Given the description of an element on the screen output the (x, y) to click on. 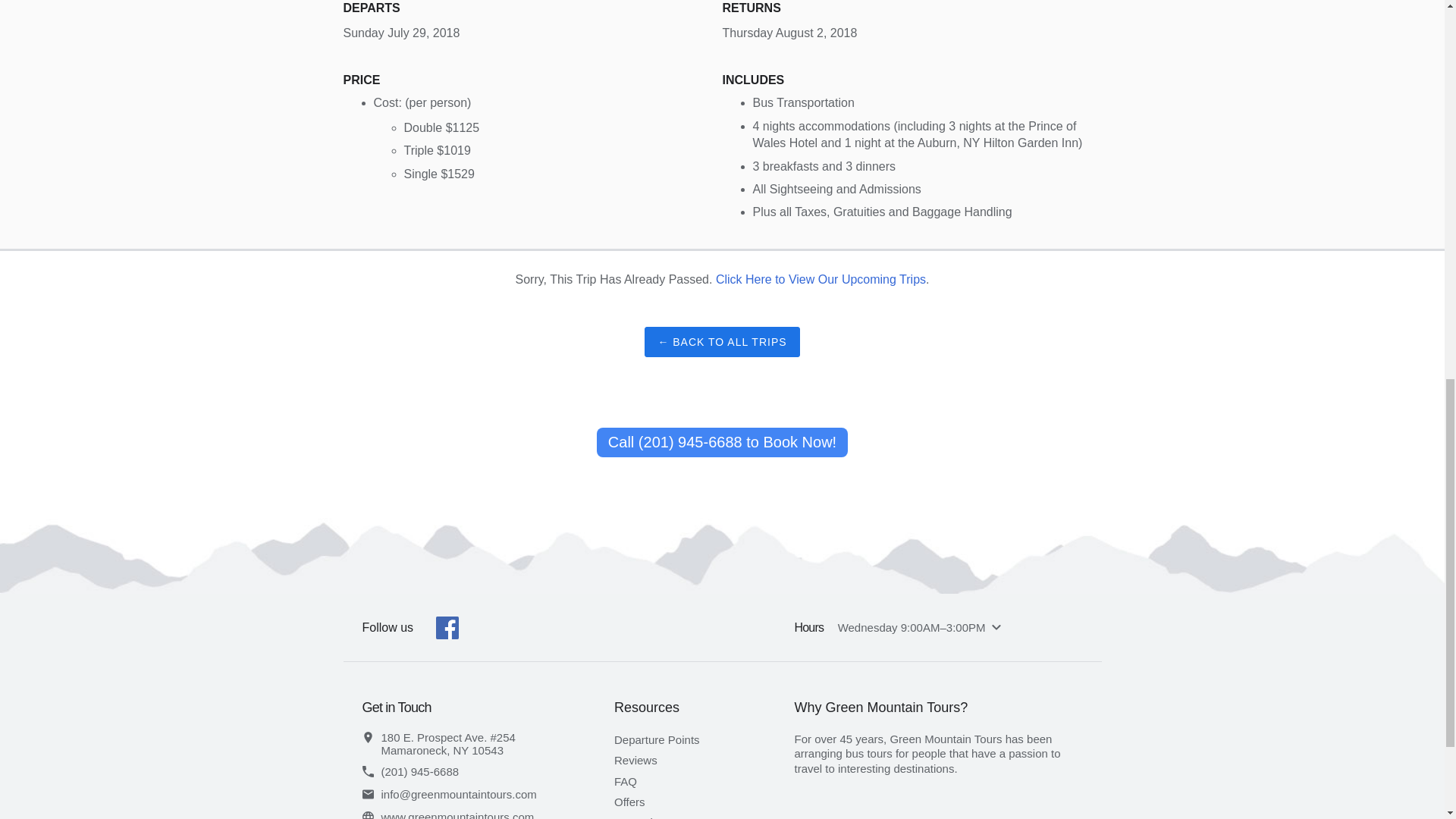
Reviews (636, 759)
Past Trips (639, 817)
Departure Points (657, 739)
www.greenmountaintours.com (488, 815)
Click Here to View Our Upcoming Trips (821, 278)
facebook (446, 627)
Get Directions to Green Mountain Tours (488, 743)
Click Here to View Our Upcoming Trips (821, 278)
Call Green Mountain Tours (488, 771)
Visit Our Facebook Page (446, 627)
